Given the description of an element on the screen output the (x, y) to click on. 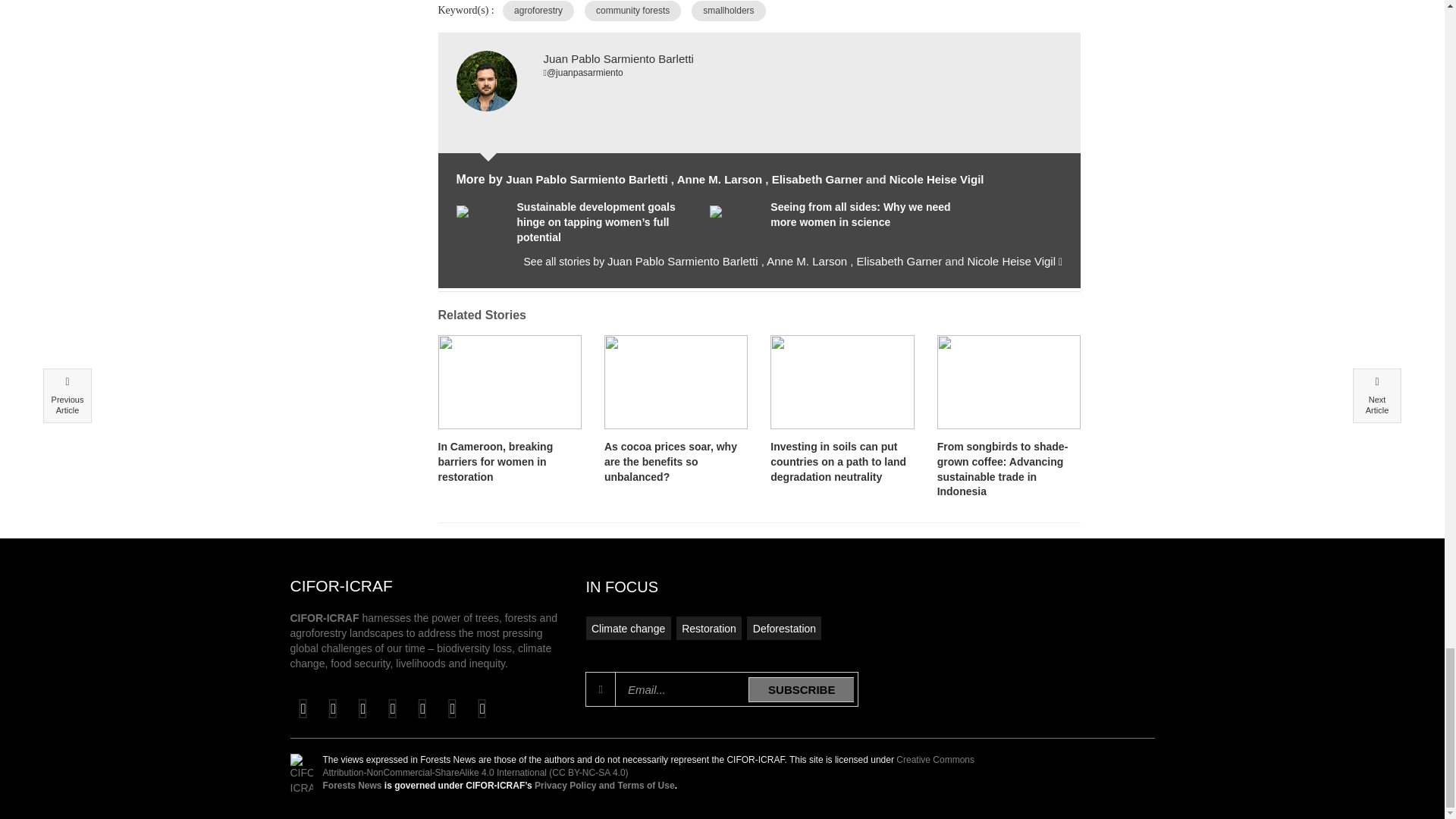
Subscribe (800, 689)
